Given the description of an element on the screen output the (x, y) to click on. 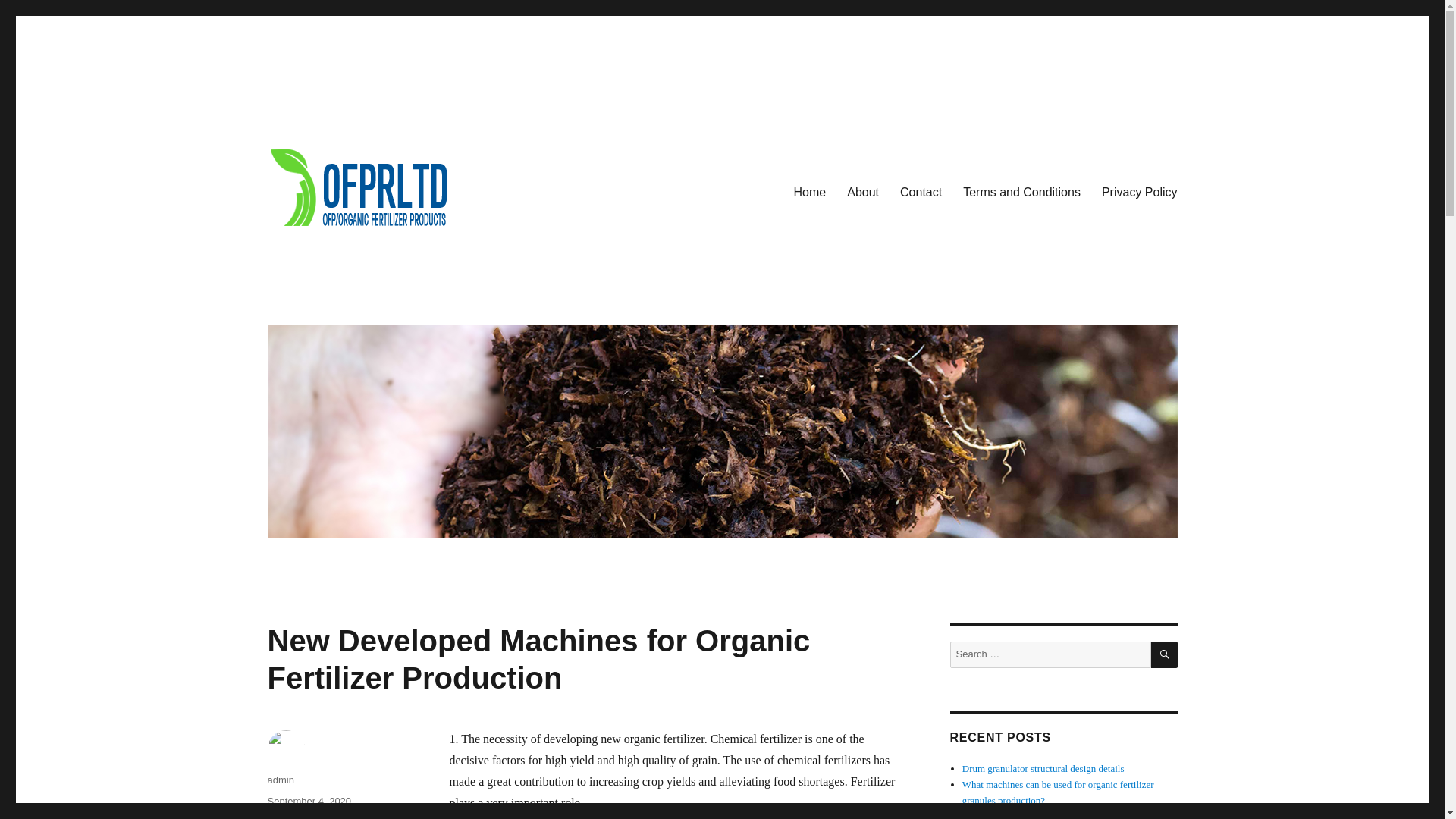
September 4, 2020 (308, 800)
Drum granulator structural design details (1043, 767)
admin (280, 779)
Orgnaic Fertilizer (357, 817)
Equipment (290, 817)
About (862, 192)
Terms and Conditions (1021, 192)
Contact (920, 192)
SEARCH (1164, 654)
Organic Fertilizer Products (402, 306)
Home (810, 192)
Privacy Policy (1139, 192)
Fertilizer Marketing in 2022 (1018, 814)
